Given the description of an element on the screen output the (x, y) to click on. 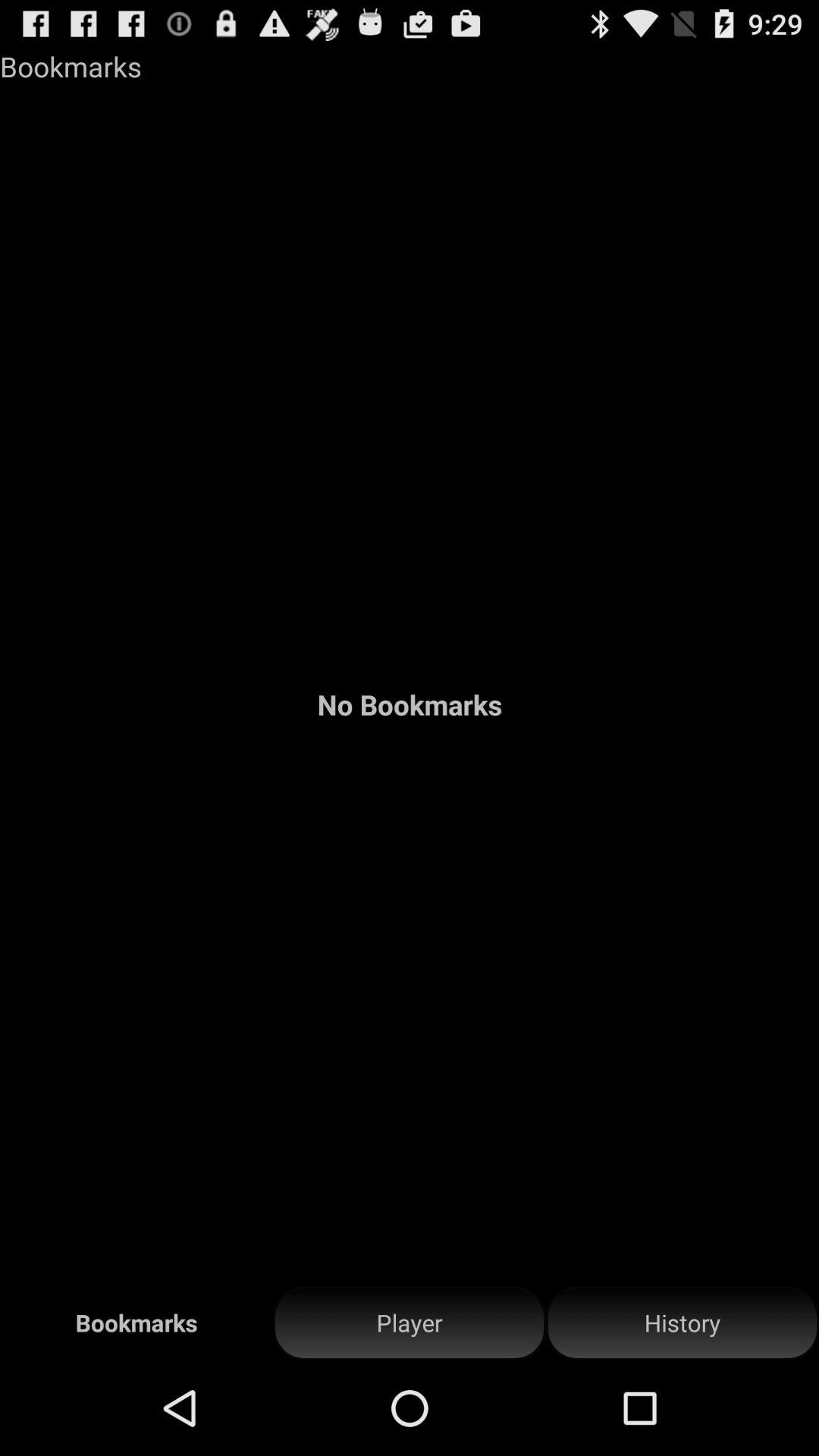
swipe to player (409, 1323)
